Given the description of an element on the screen output the (x, y) to click on. 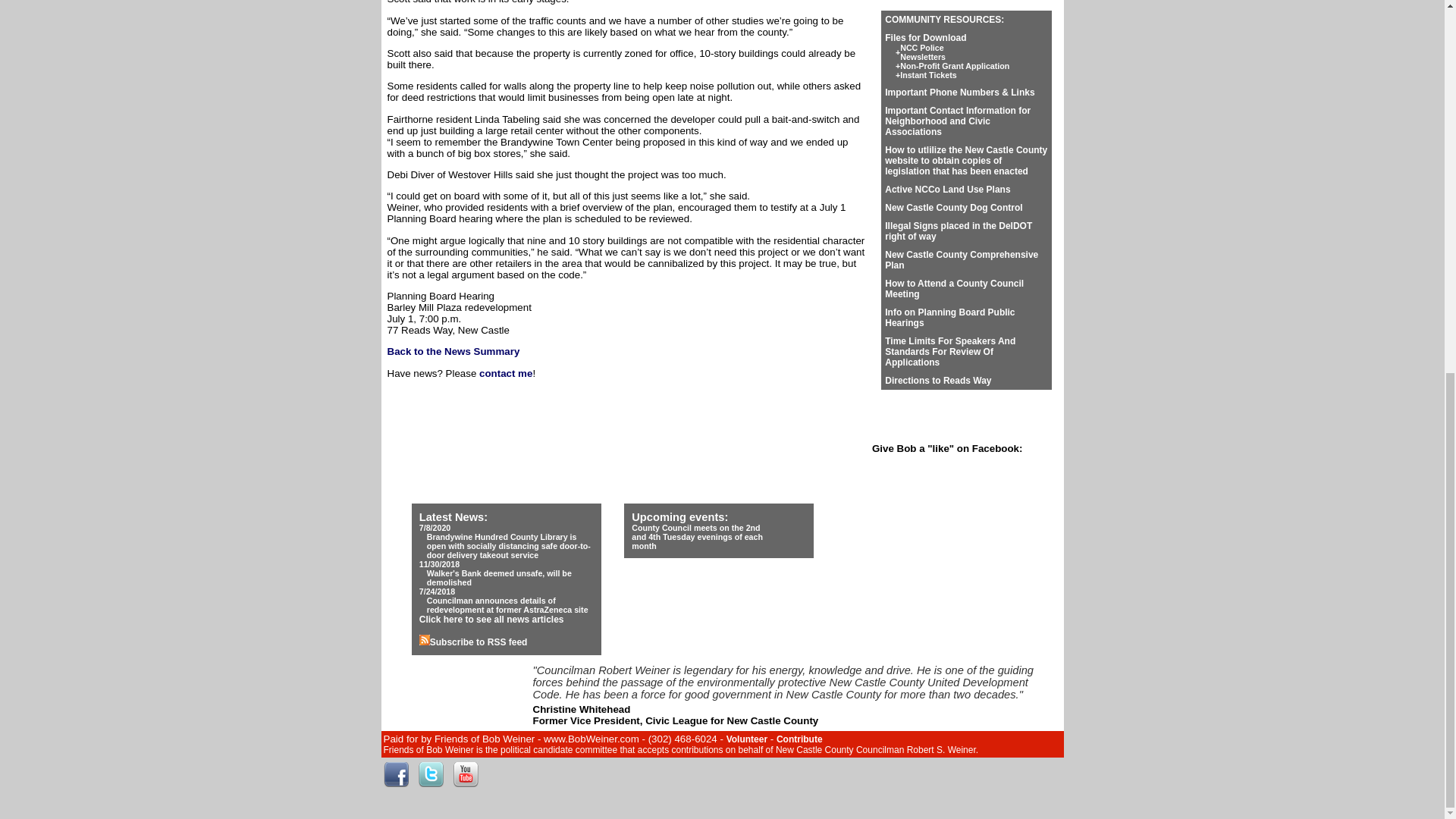
Non-Profit Grant Application (954, 65)
Back to the News Summary (921, 52)
Instant Tickets (453, 351)
Files for Download (927, 74)
contact me (925, 37)
